Given the description of an element on the screen output the (x, y) to click on. 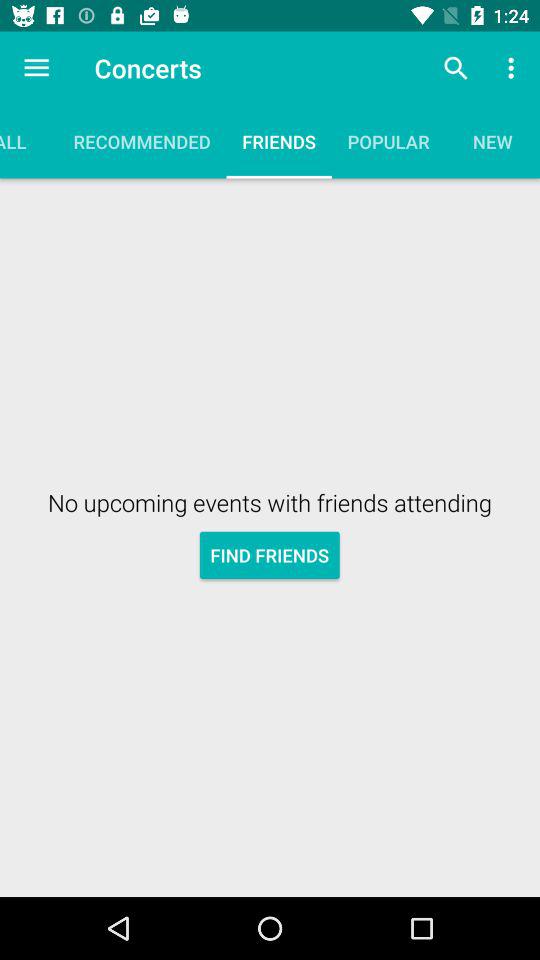
turn on the item above new (513, 67)
